Given the description of an element on the screen output the (x, y) to click on. 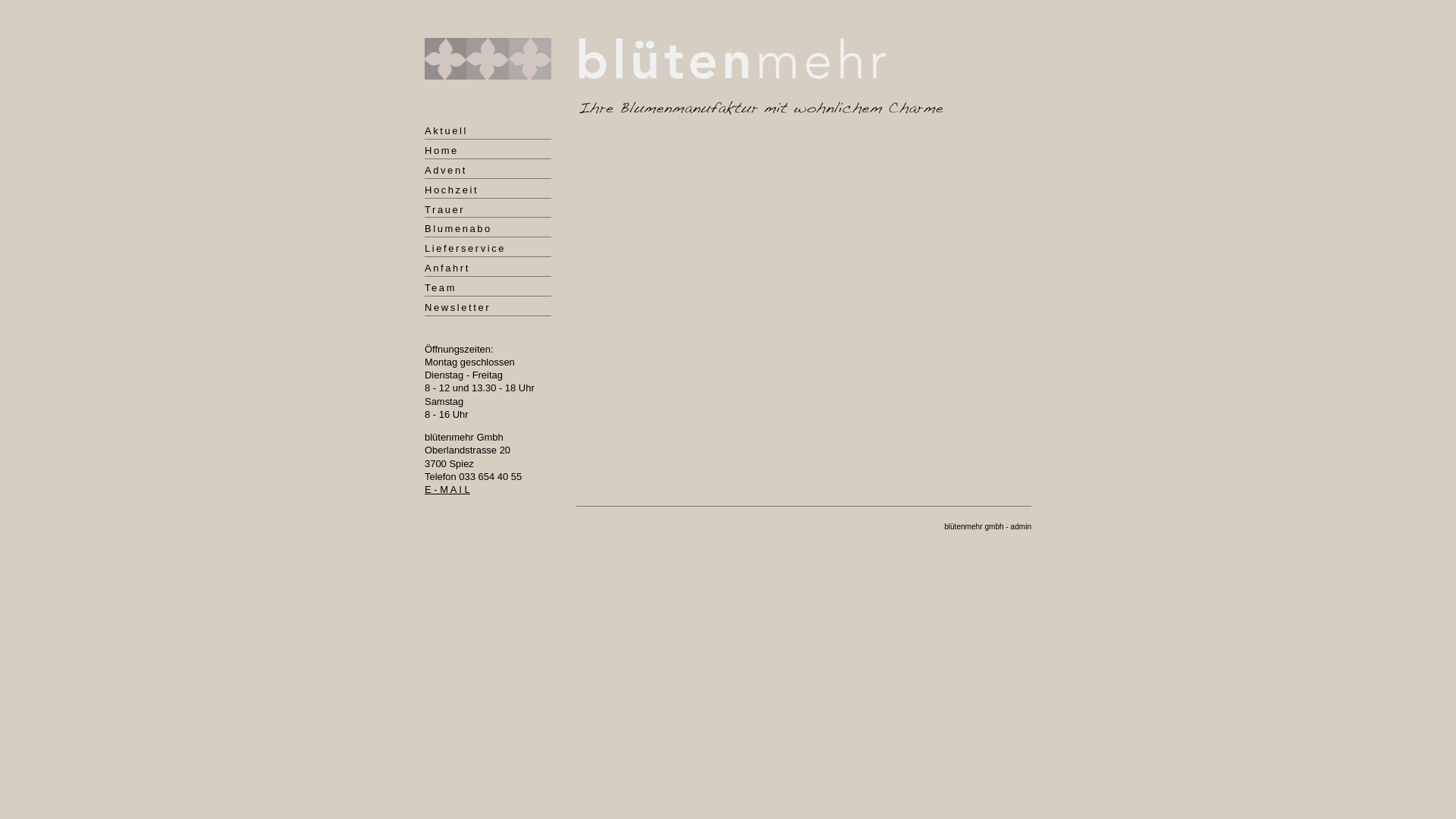
Hochzeit Element type: text (487, 190)
E - M A I L Element type: text (447, 489)
Lieferservice Element type: text (487, 249)
admin Element type: text (1020, 526)
Anfahrt Element type: text (487, 268)
Advent Element type: text (487, 170)
Team Element type: text (487, 288)
Newsletter Element type: text (487, 308)
Aktuell Element type: text (487, 131)
Blumenabo Element type: text (487, 229)
Trauer Element type: text (487, 210)
Home Element type: text (487, 151)
